Given the description of an element on the screen output the (x, y) to click on. 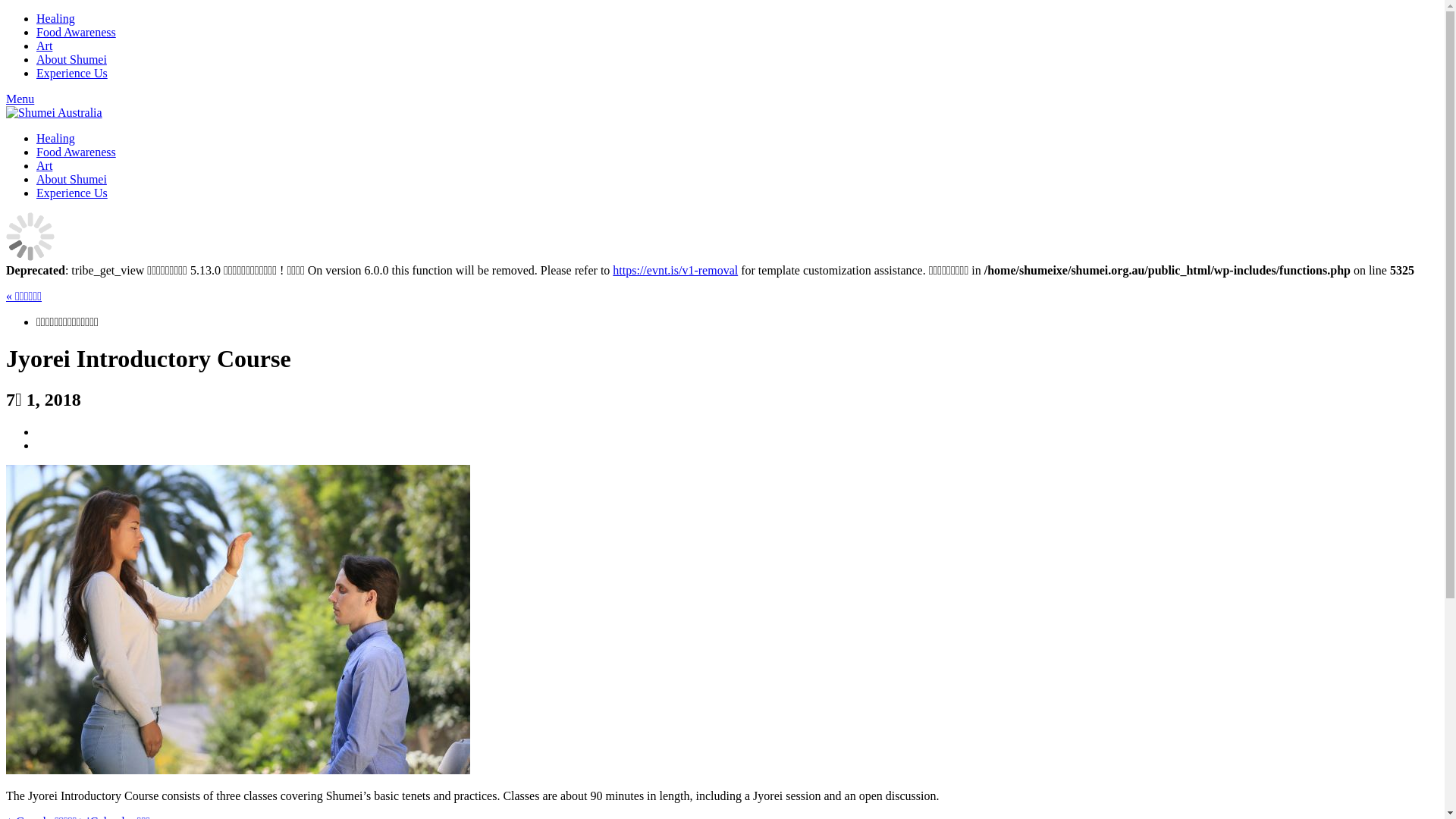
About Shumei Element type: text (71, 178)
Menu Element type: text (20, 98)
About Shumei Element type: text (71, 59)
Food Awareness Element type: text (76, 31)
https://evnt.is/v1-removal Element type: text (674, 269)
Art Element type: text (44, 165)
Food Awareness Element type: text (76, 151)
Experience Us Element type: text (71, 72)
Healing Element type: text (55, 18)
Art Element type: text (44, 45)
Experience Us Element type: text (71, 192)
Healing Element type: text (55, 137)
